Given the description of an element on the screen output the (x, y) to click on. 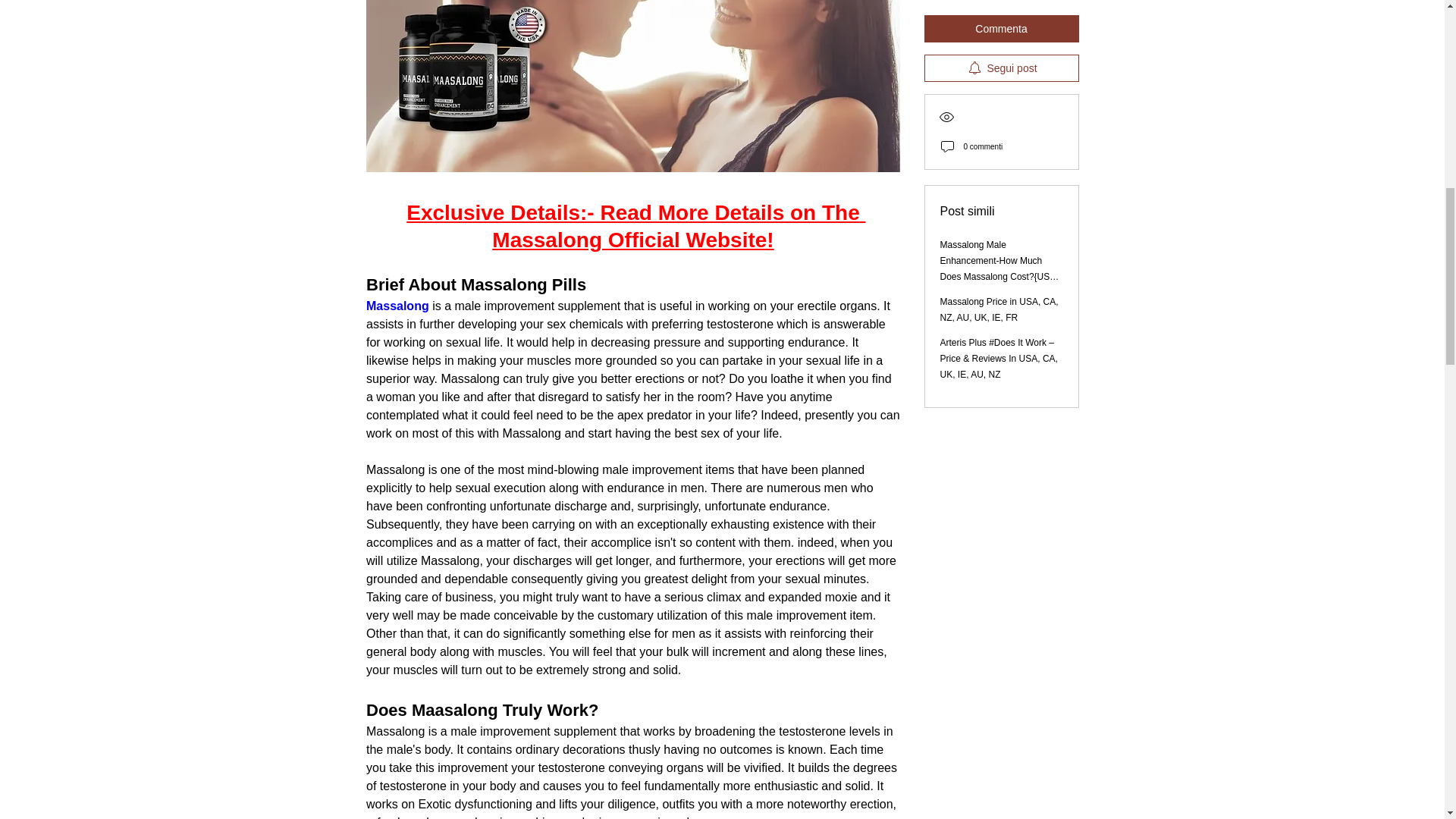
Massalong (396, 305)
